Given the description of an element on the screen output the (x, y) to click on. 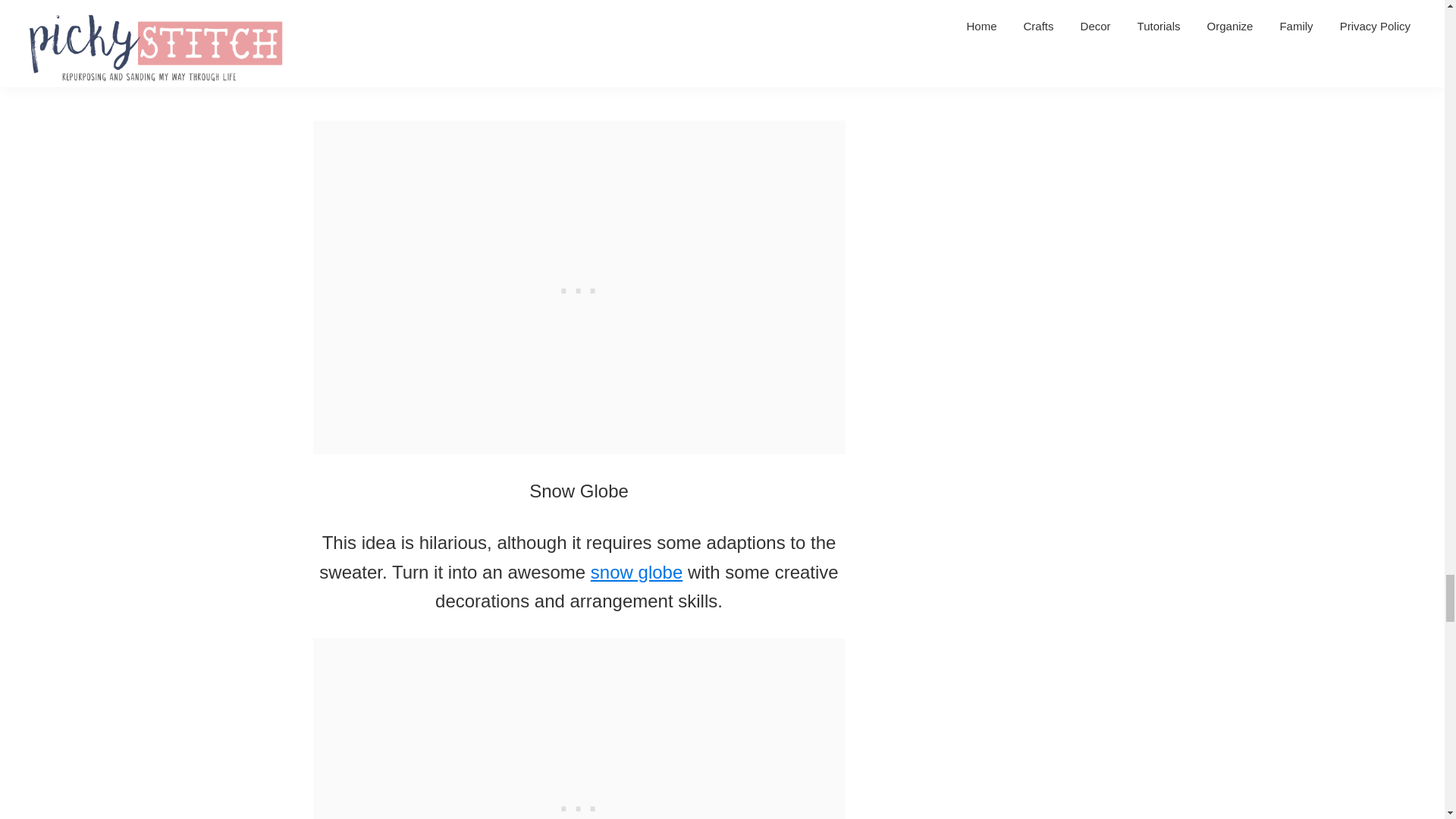
snow globe (636, 571)
